Given the description of an element on the screen output the (x, y) to click on. 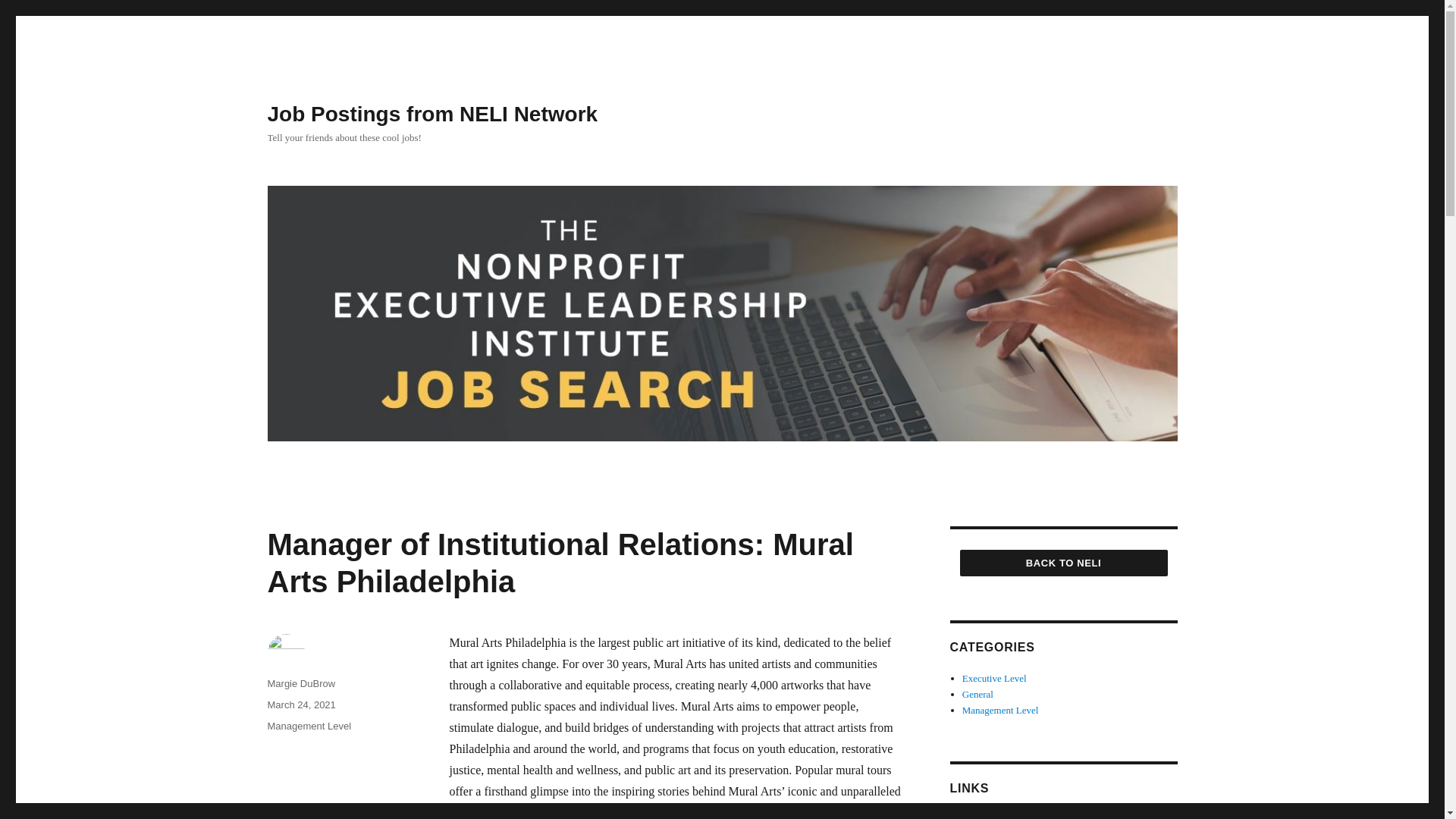
Management Level (308, 726)
Back To NELI (1063, 562)
Executive Level (994, 677)
Idealist.org (984, 816)
March 24, 2021 (300, 704)
Management Level (1000, 709)
Margie DuBrow (300, 683)
General (977, 694)
Job Postings from NELI Network (431, 114)
